Given the description of an element on the screen output the (x, y) to click on. 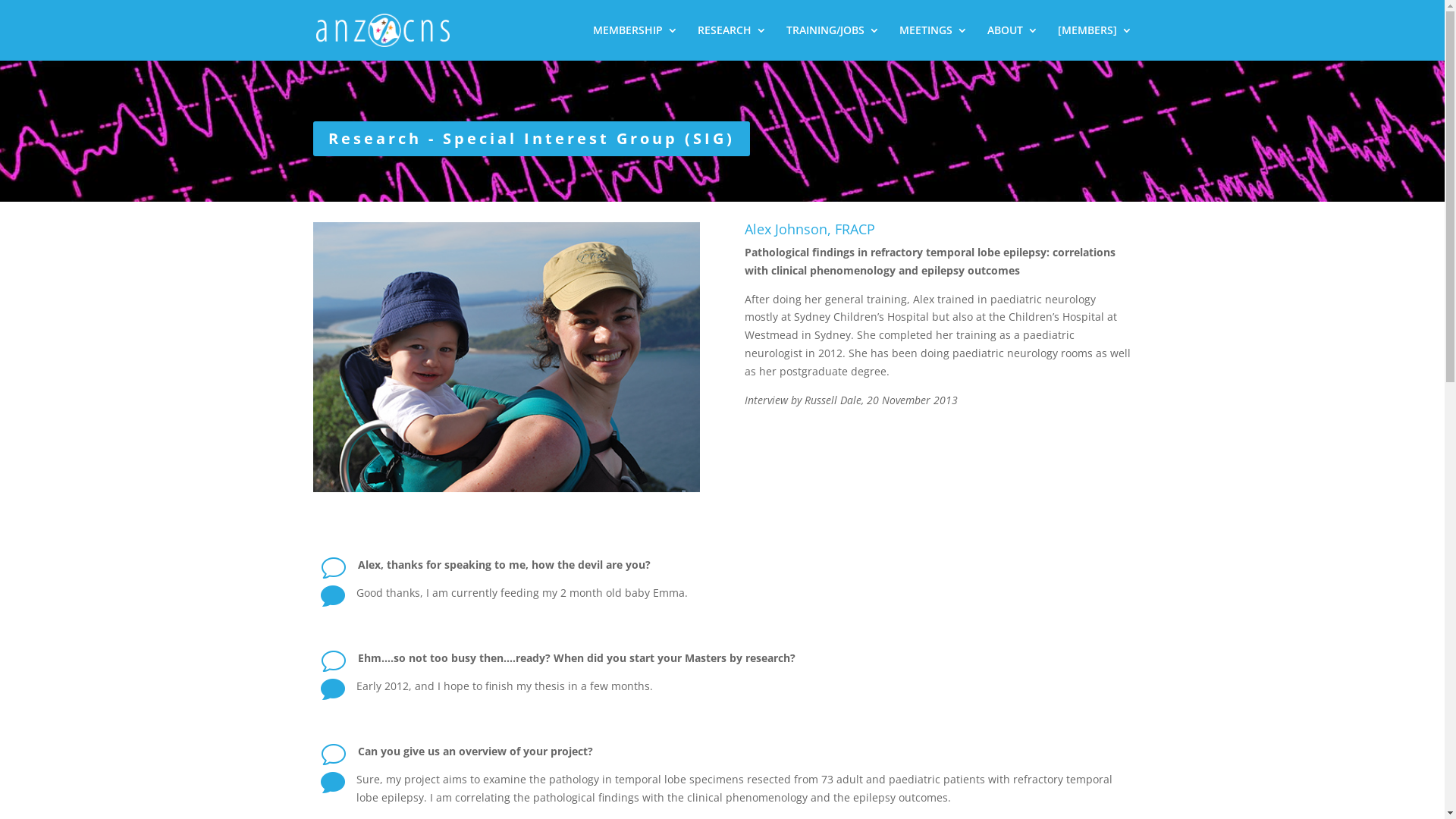
MEMBERSHIP Element type: text (635, 42)
Research - Special Interest Group (SIG) Element type: text (530, 138)
RESEARCH Element type: text (731, 42)
TRAINING/JOBS Element type: text (831, 42)
MEETINGS Element type: text (933, 42)
ABOUT Element type: text (1012, 42)
[MEMBERS] Element type: text (1094, 42)
